Given the description of an element on the screen output the (x, y) to click on. 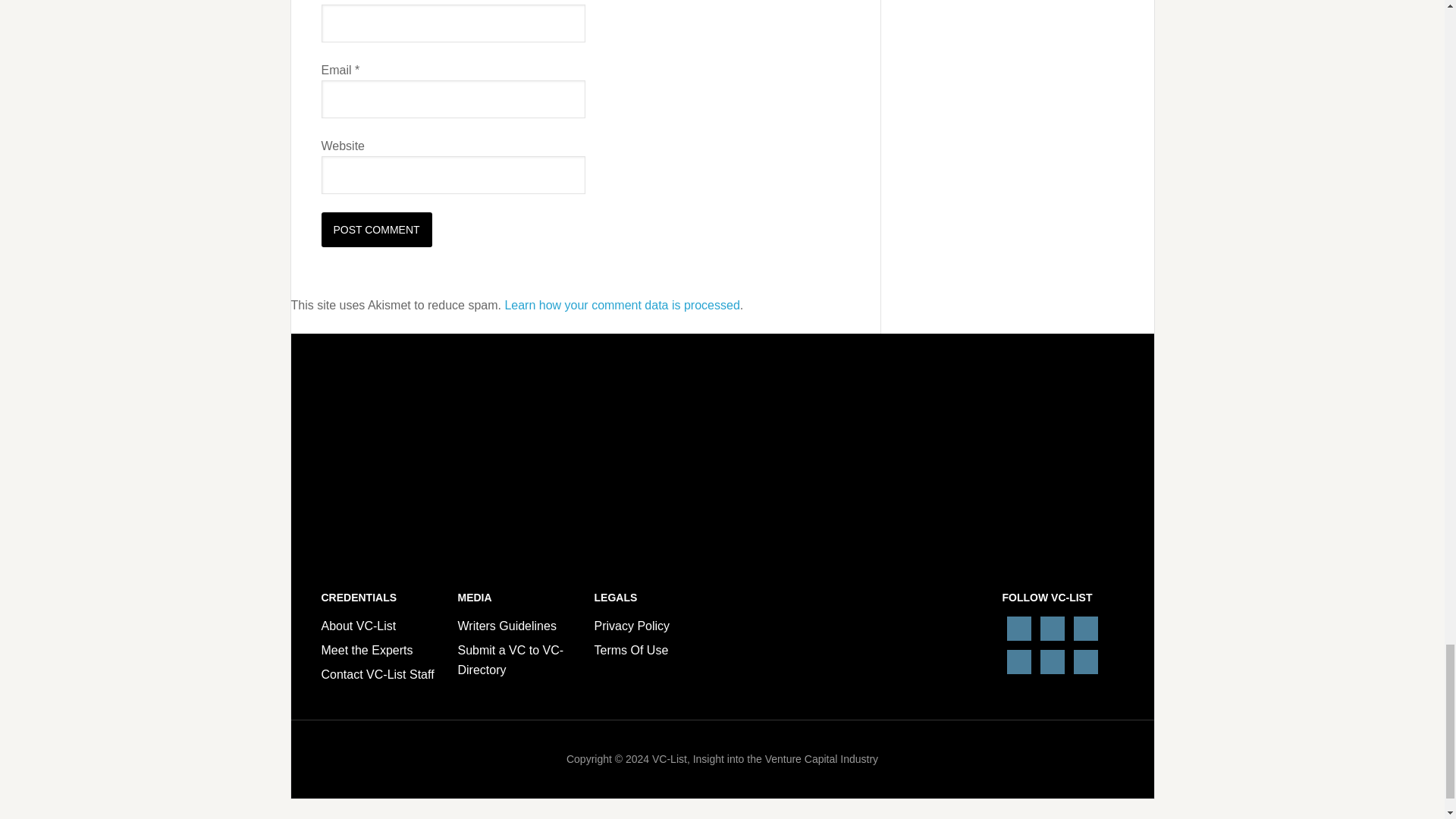
About VC-List (358, 625)
Post Comment (376, 229)
Learn how your comment data is processed (621, 305)
Contact VC-List Staff (377, 674)
Post Comment (376, 229)
Meet the Experts (367, 649)
